Given the description of an element on the screen output the (x, y) to click on. 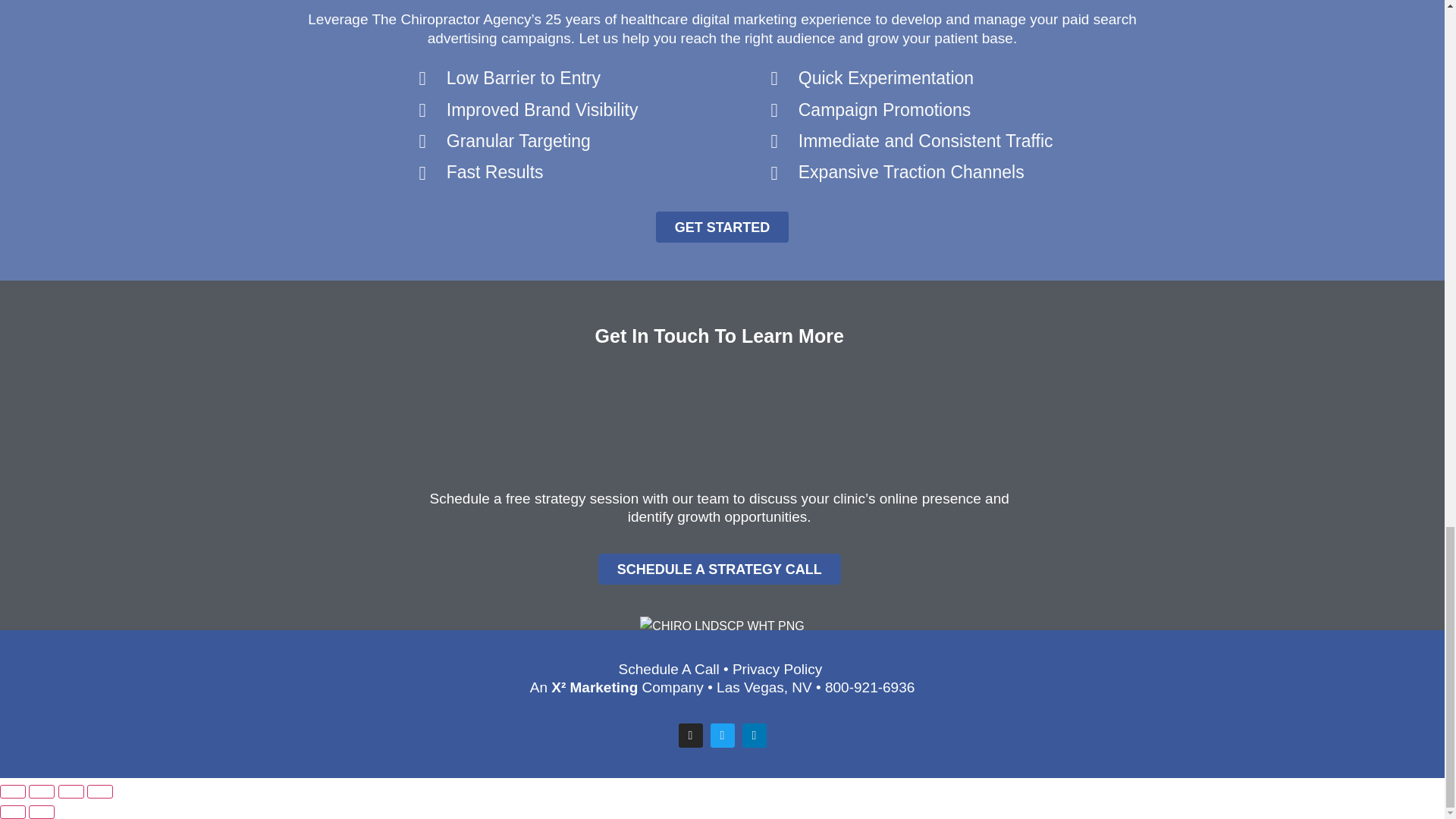
CHIRO LNDSCP WHT PNG (721, 626)
Schedule A Call (668, 668)
GET STARTED (722, 226)
SCHEDULE A STRATEGY CALL (719, 568)
